Given the description of an element on the screen output the (x, y) to click on. 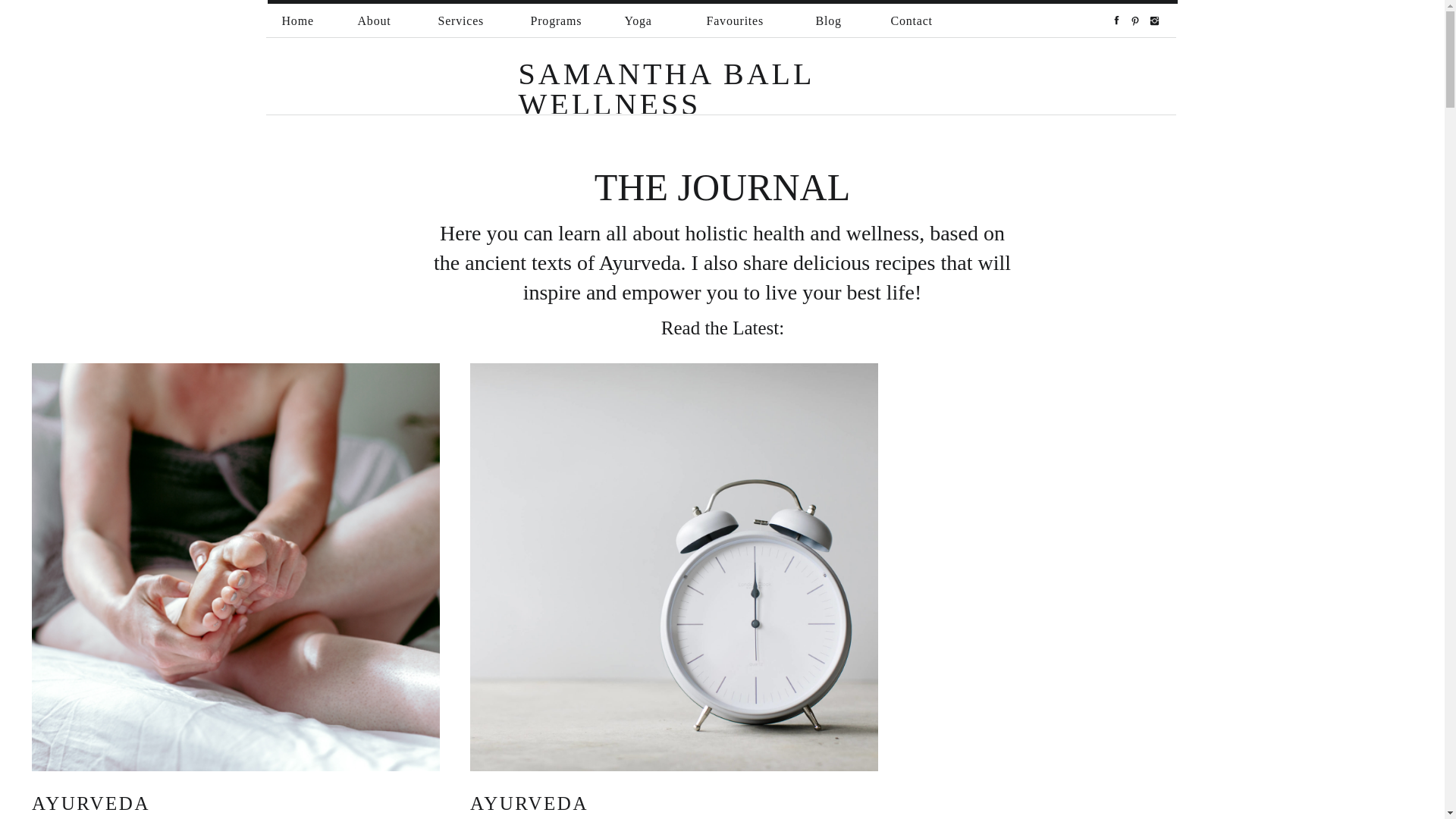
Contact (912, 21)
Home (295, 21)
Services (459, 21)
SAMANTHA BALL WELLNESS (746, 75)
Programs (553, 21)
Favourites (736, 21)
AYURVEDA (90, 803)
Blog (828, 21)
Yoga (641, 21)
About (373, 21)
AYURVEDA (529, 803)
